Given the description of an element on the screen output the (x, y) to click on. 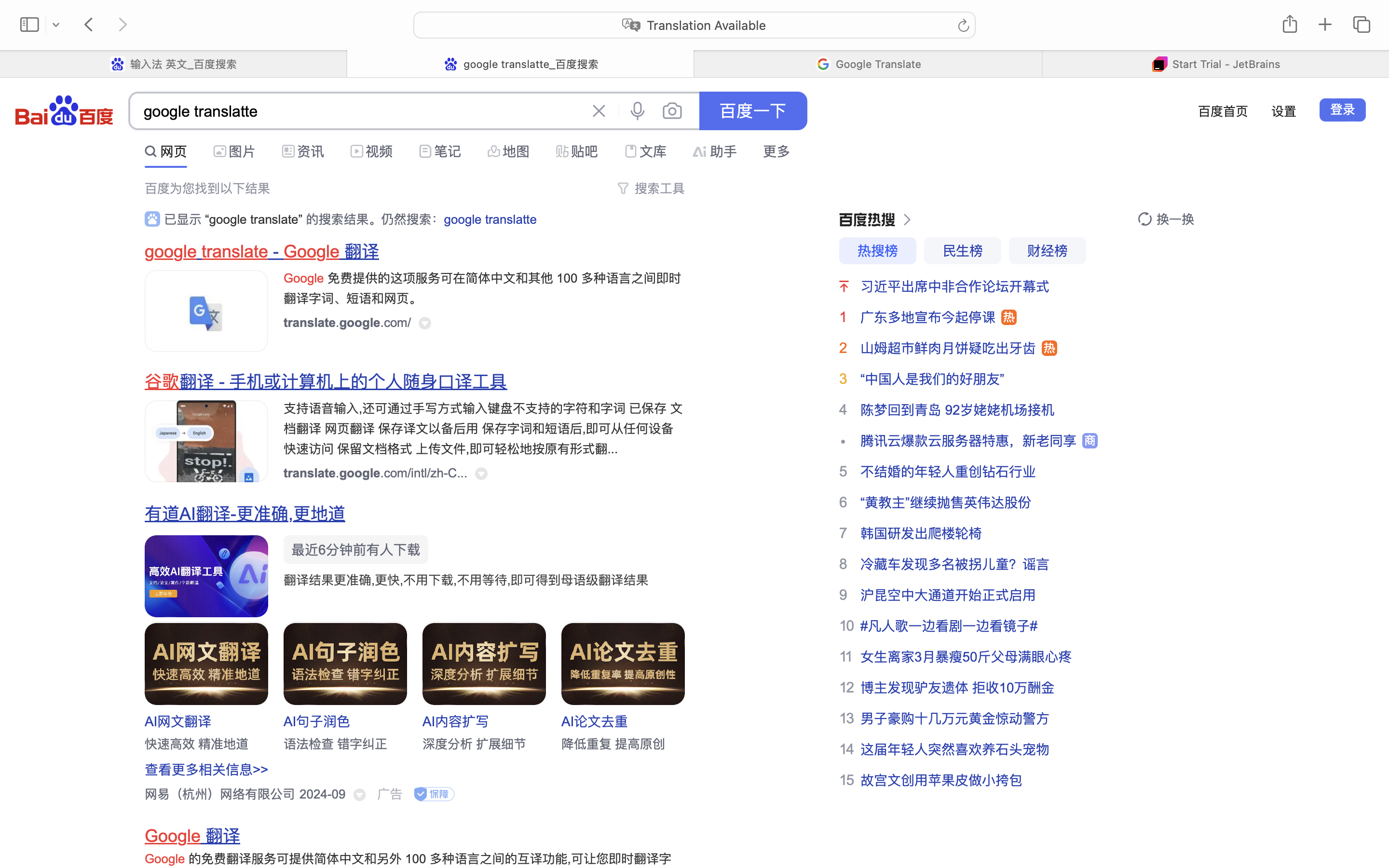
翻译结果更准确,更快,不用下载,不用等待,即可得到母语级翻译结果 Element type: AXStaticText (466, 579)
“中国人是我们的好朋友” Element type: AXStaticText (932, 378)
查看更多相关信息>> Element type: AXStaticText (206, 769)
 Element type: AXStaticText (630, 151)
Google Element type: AXStaticText (311, 251)
